Given the description of an element on the screen output the (x, y) to click on. 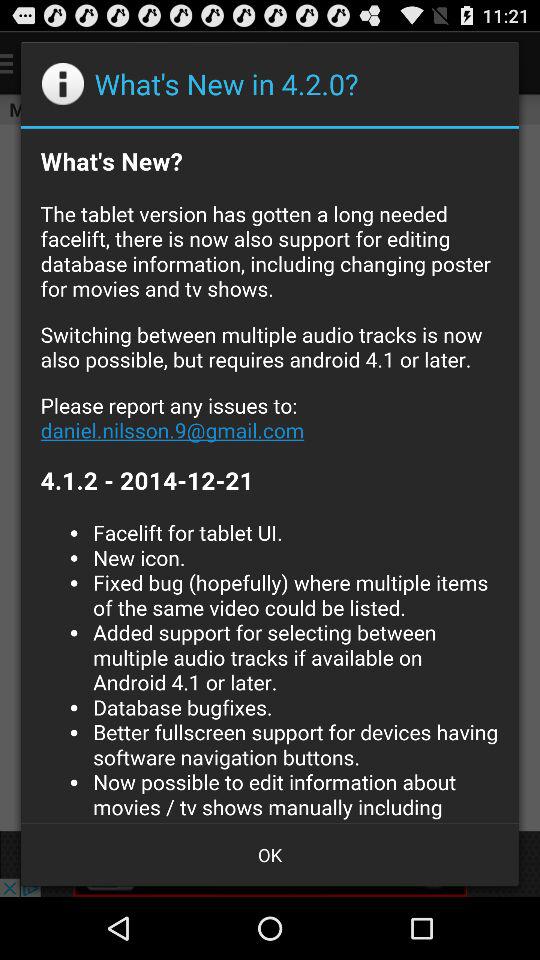
files (270, 475)
